Given the description of an element on the screen output the (x, y) to click on. 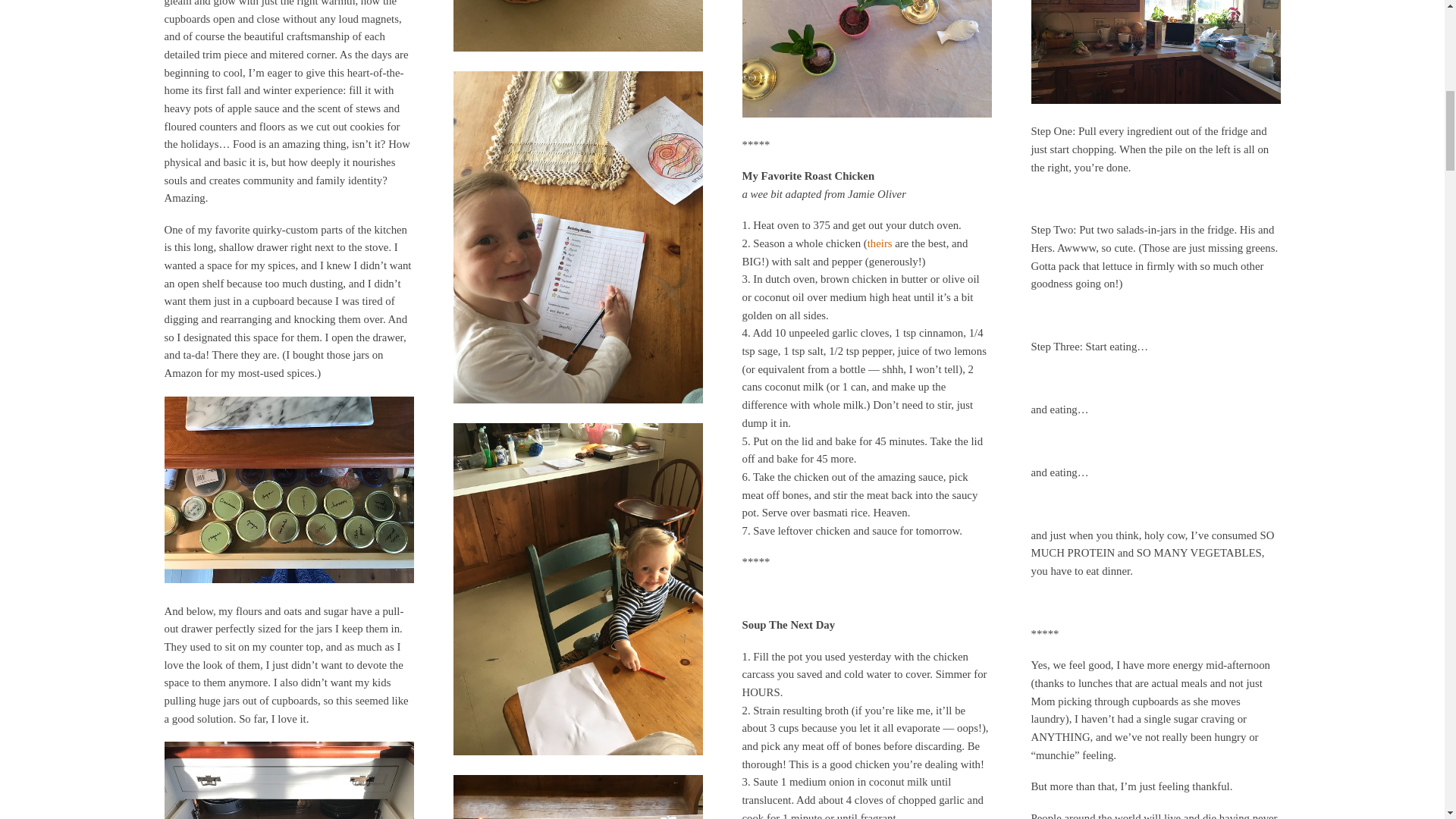
theirs (879, 243)
